Given the description of an element on the screen output the (x, y) to click on. 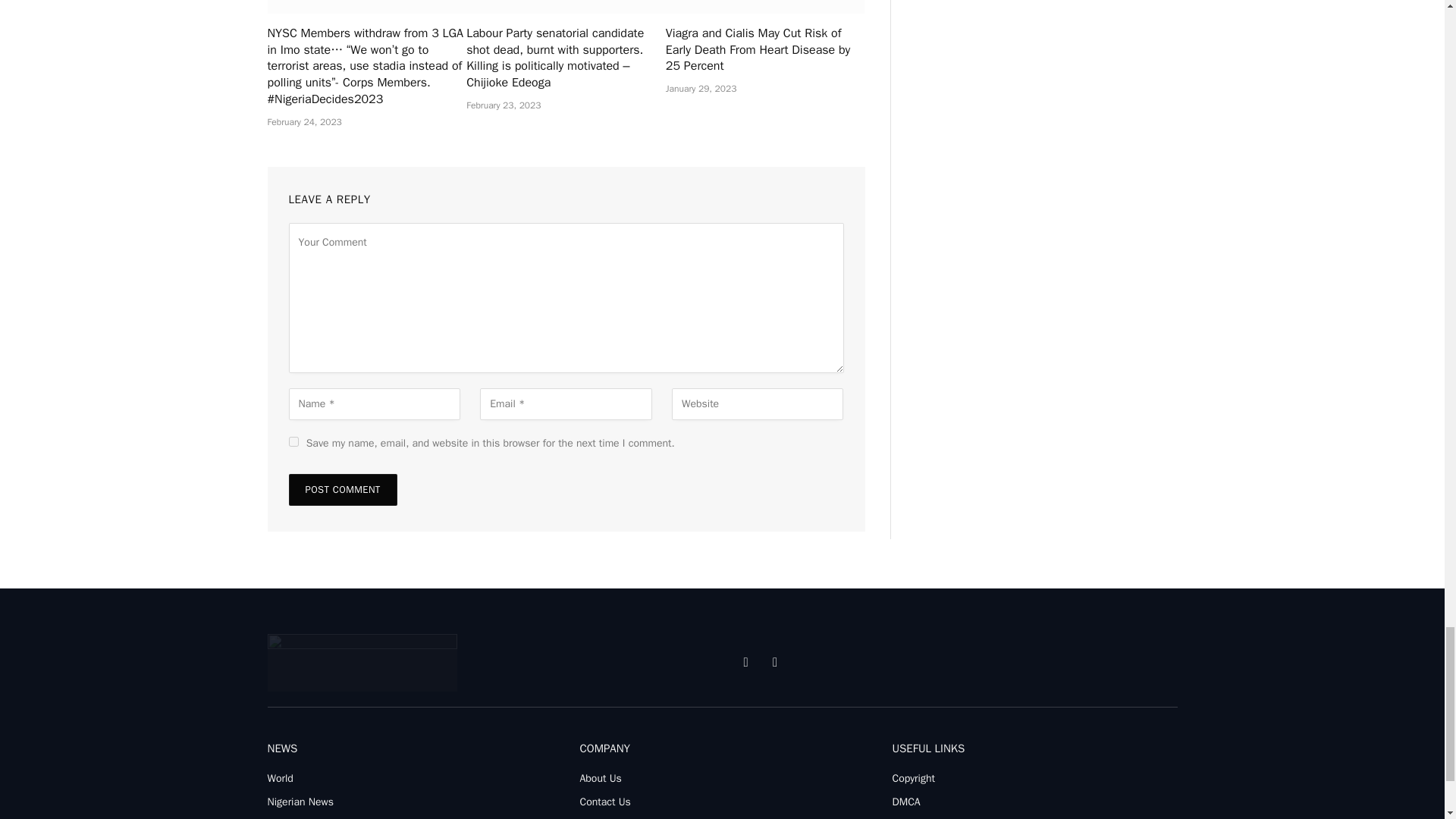
Post Comment (342, 490)
yes (293, 441)
